Given the description of an element on the screen output the (x, y) to click on. 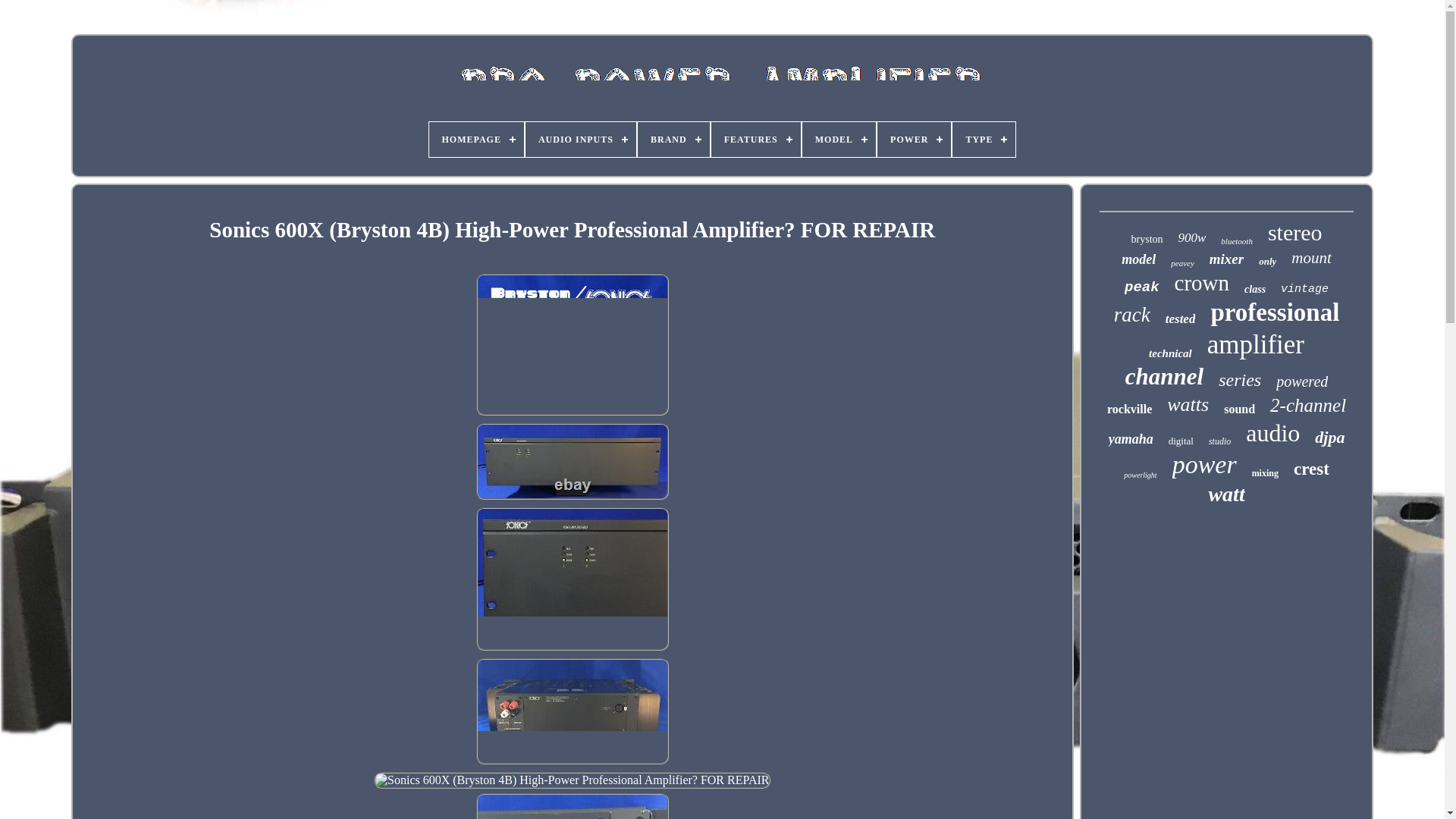
AUDIO INPUTS (580, 139)
HOMEPAGE (476, 139)
BRAND (673, 139)
